Given the description of an element on the screen output the (x, y) to click on. 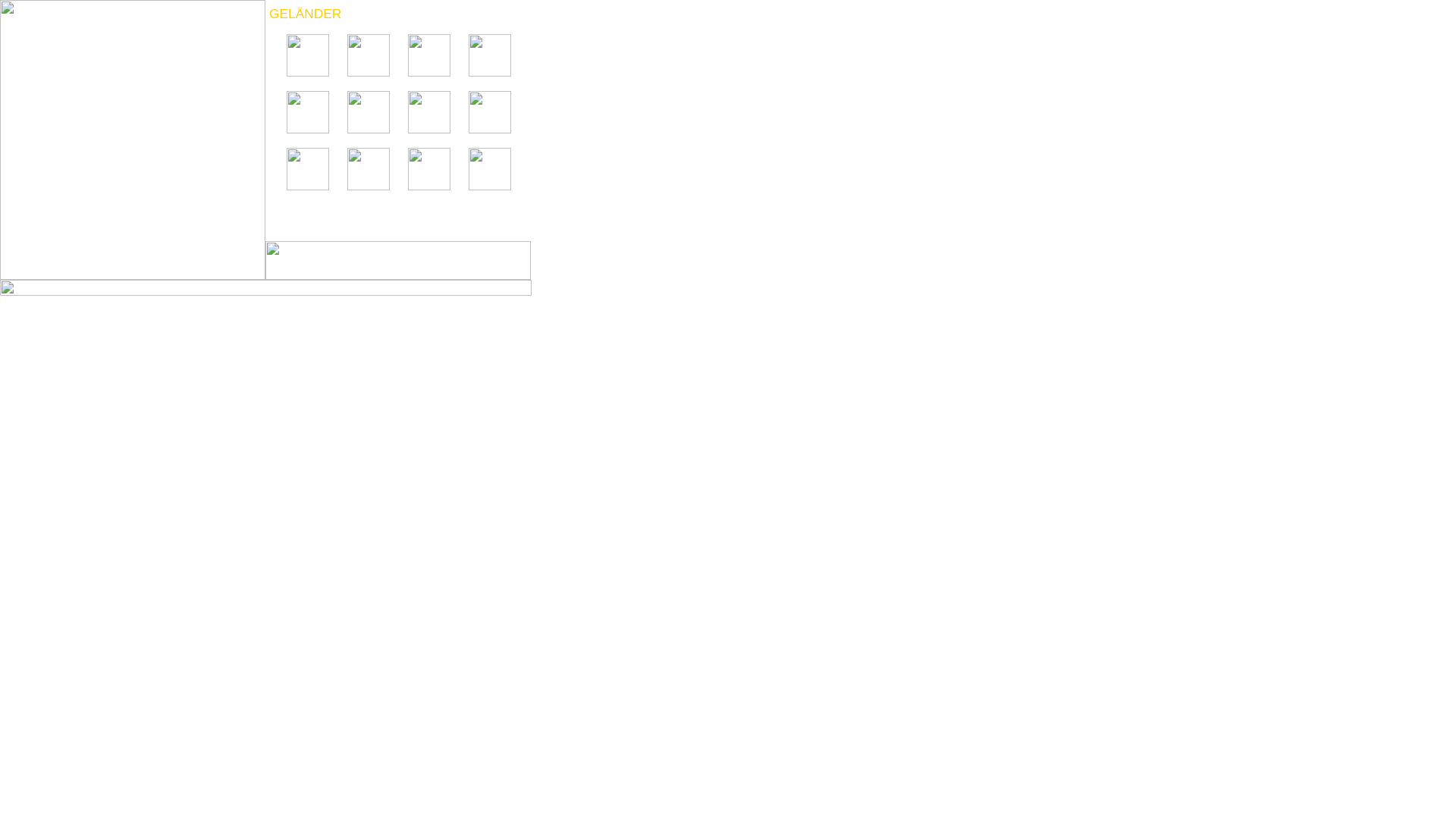
zum Webmaster Element type: hover (265, 292)
